Given the description of an element on the screen output the (x, y) to click on. 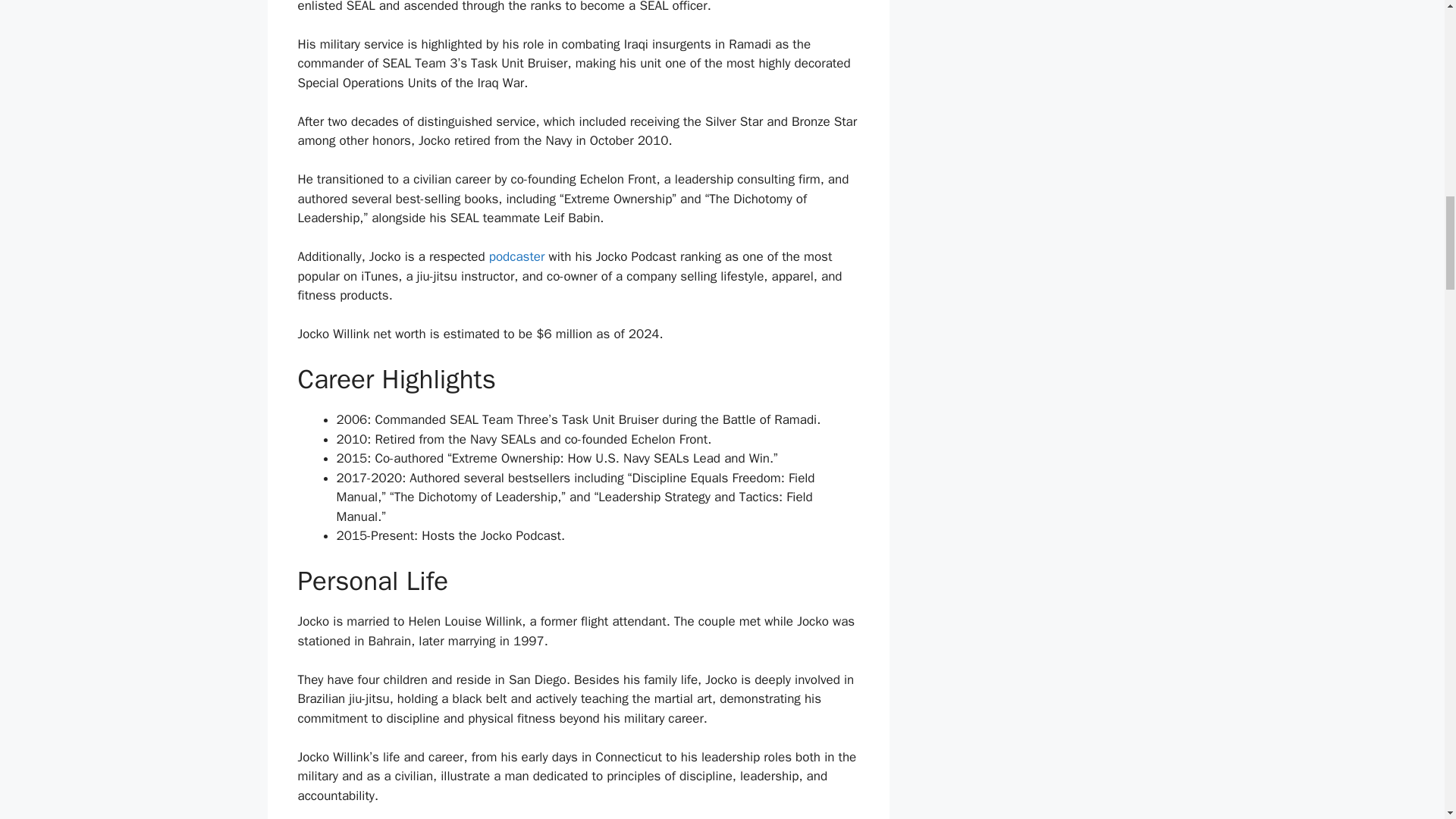
podcaster (516, 256)
